Given the description of an element on the screen output the (x, y) to click on. 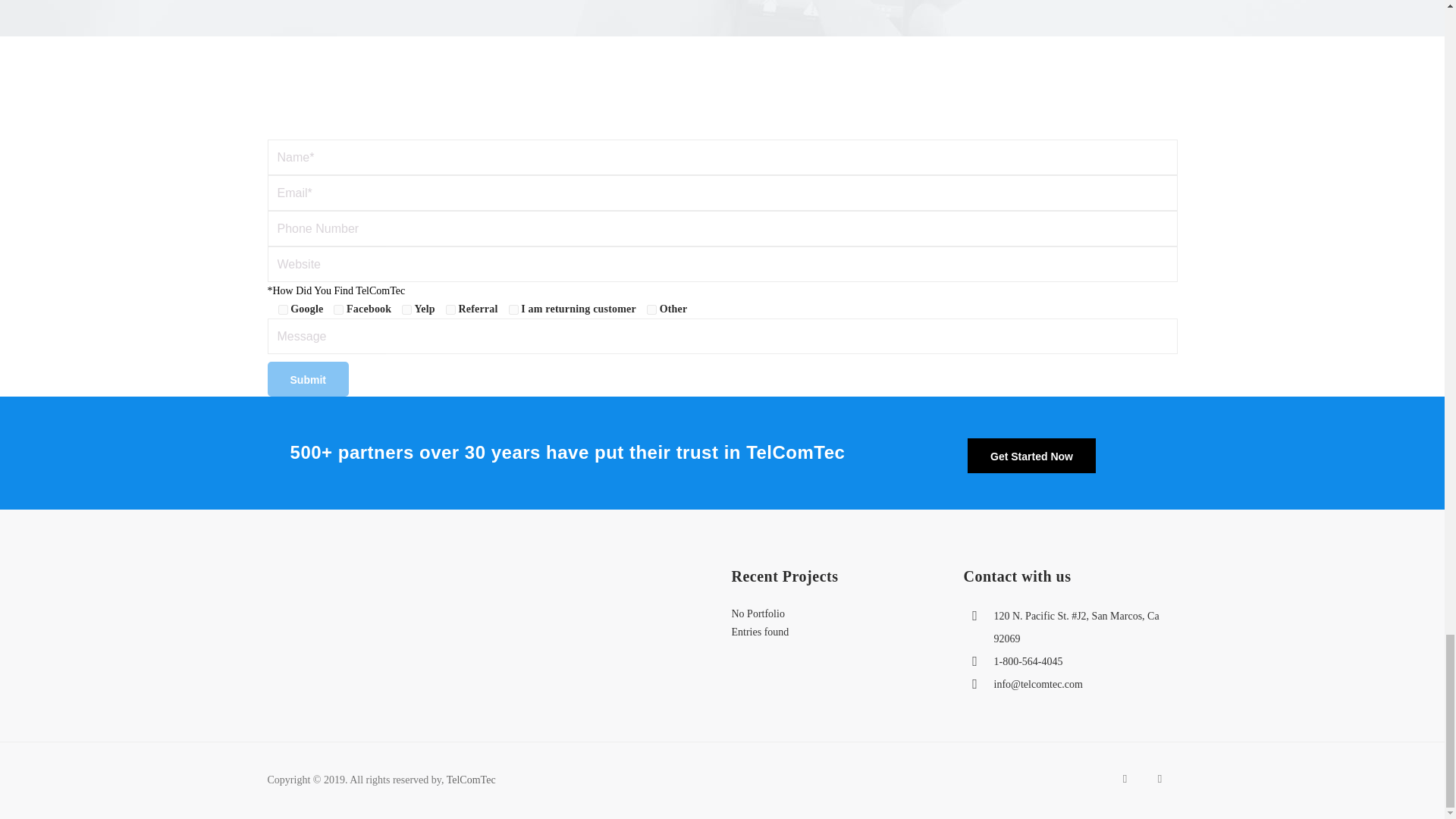
Get Started Now (1032, 455)
Referral (450, 309)
TelComTec (471, 779)
Google (282, 309)
I am returning customer (513, 309)
Submit (306, 378)
Yelp (406, 309)
Facebook (338, 309)
Other (651, 309)
Submit (306, 378)
